Given the description of an element on the screen output the (x, y) to click on. 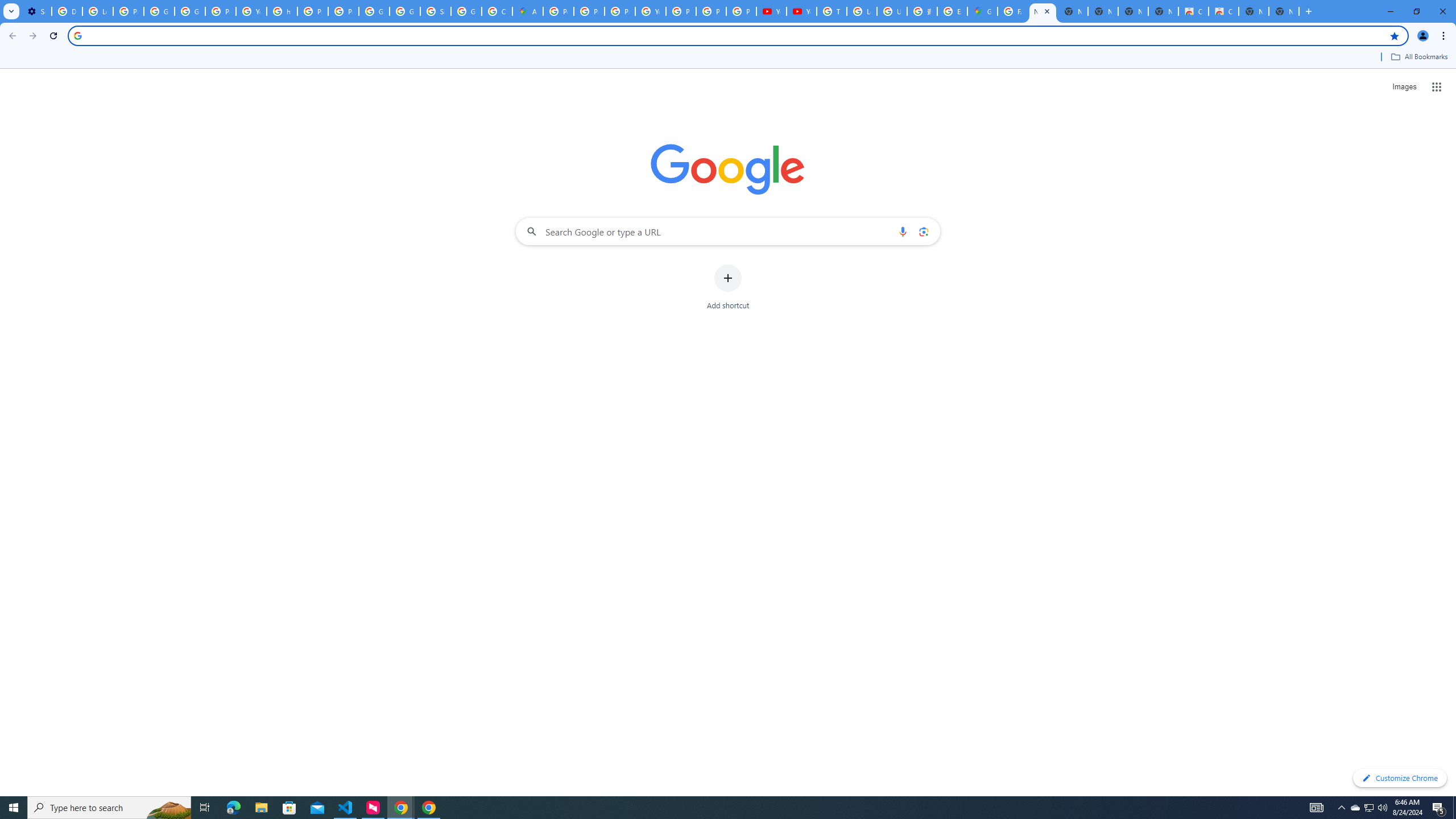
Create your Google Account (496, 11)
YouTube (801, 11)
New Tab (1283, 11)
https://scholar.google.com/ (282, 11)
Google Account Help (158, 11)
YouTube (650, 11)
Policy Accountability and Transparency - Transparency Center (558, 11)
